Given the description of an element on the screen output the (x, y) to click on. 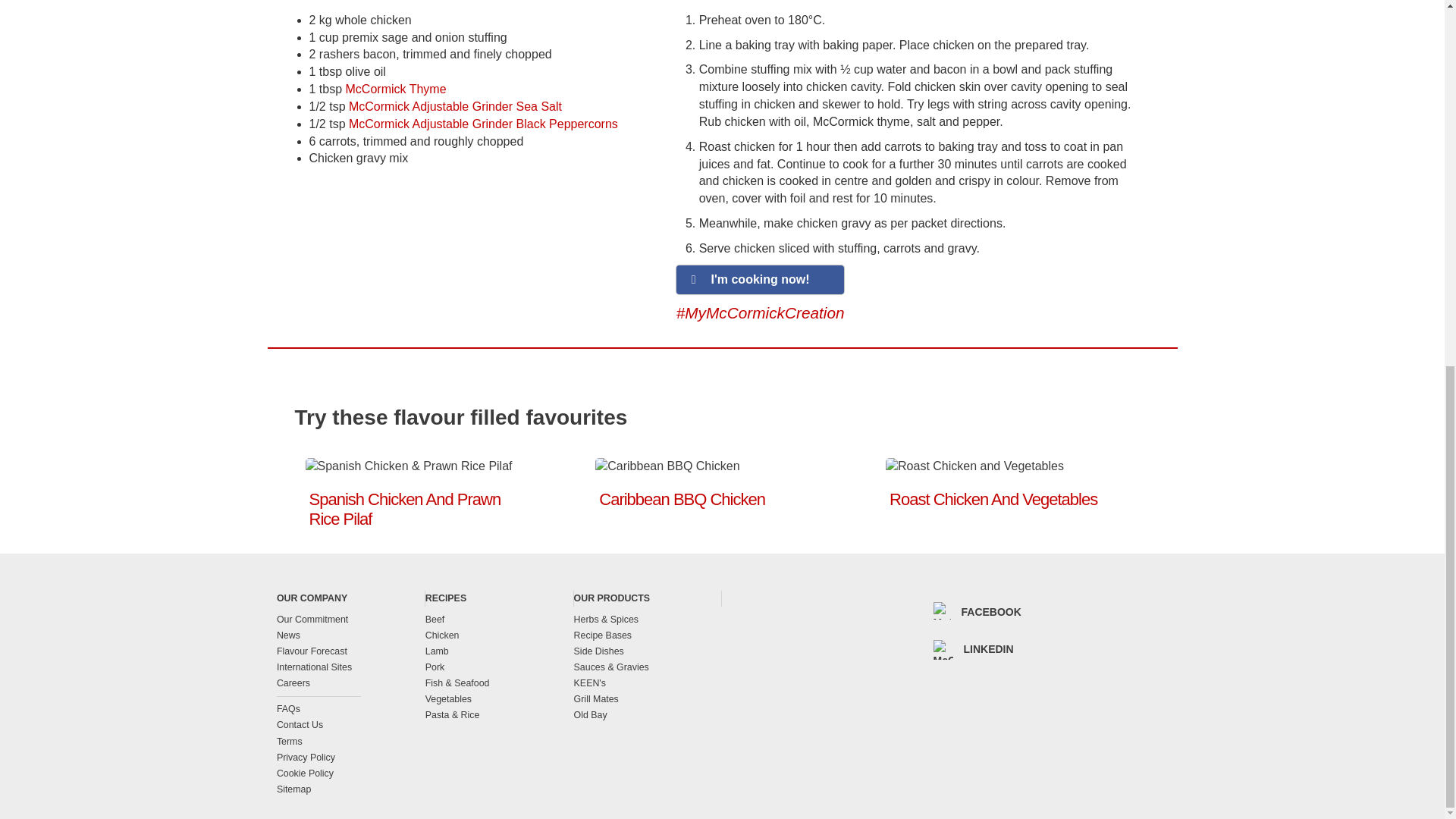
International Sites (350, 667)
Contact Us (318, 725)
Roast Chicken and Vegetables  (974, 466)
Caribbean BBQ Chicken (667, 466)
I'm cooking now! (760, 279)
Our Commitment (350, 619)
Caribbean BBQ Chicken (681, 498)
OUR COMPANY (350, 598)
Flavour Forecast (350, 651)
Spanish Chicken And Prawn Rice Pilaf (404, 508)
